Given the description of an element on the screen output the (x, y) to click on. 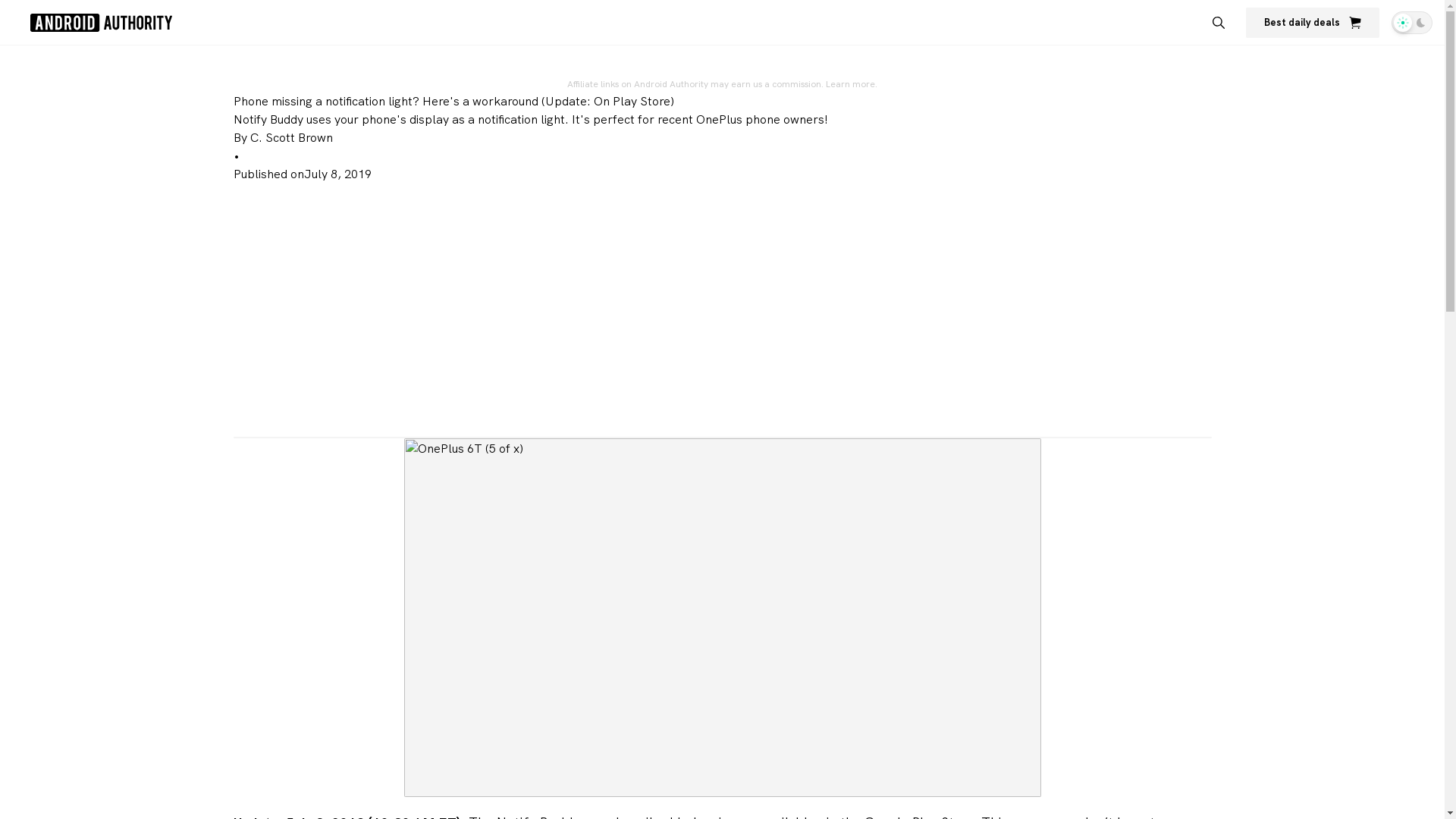
Learn more. (851, 83)
C. Scott Brown (291, 137)
Best daily deals (1312, 22)
